Given the description of an element on the screen output the (x, y) to click on. 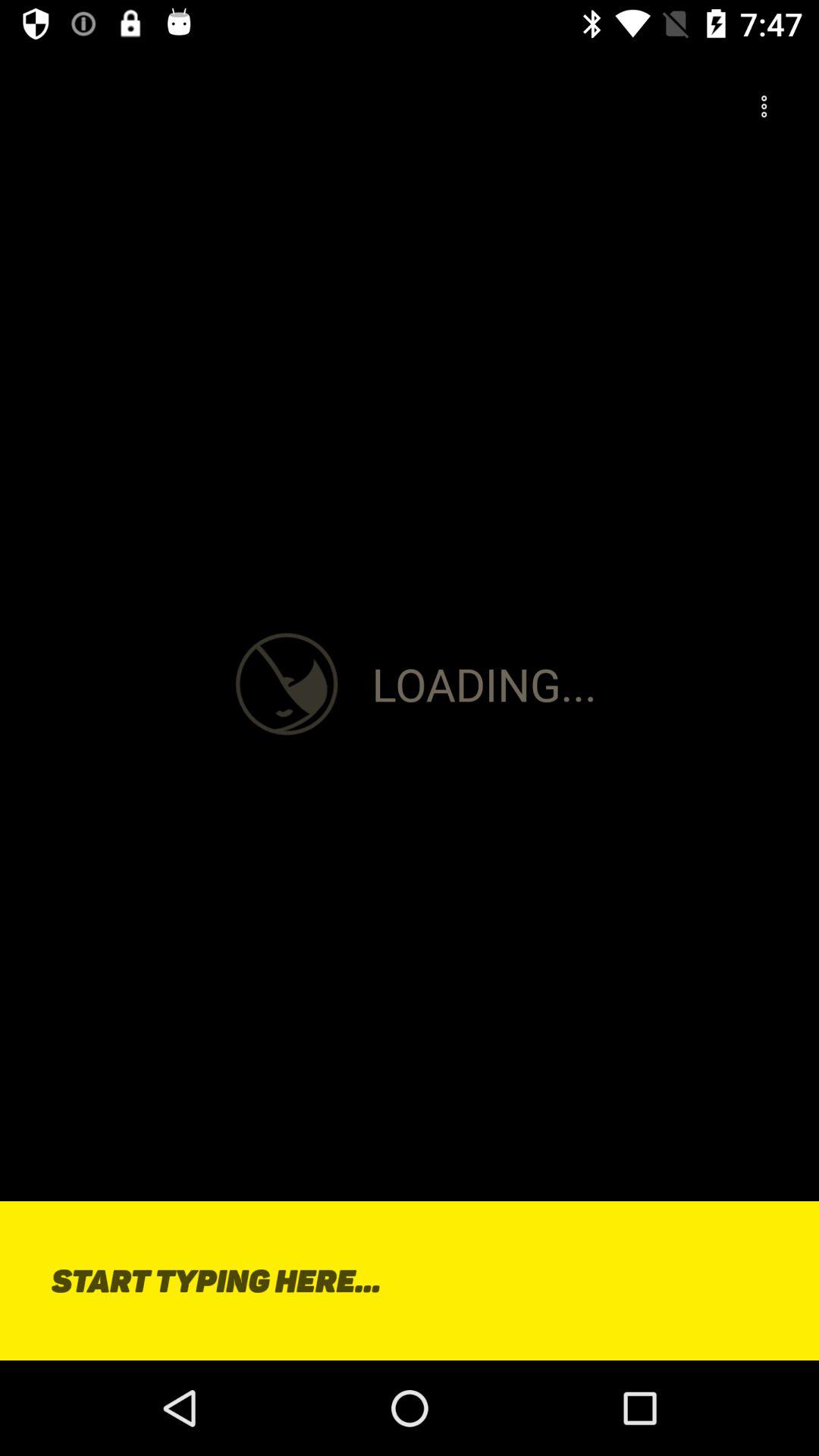
swipe to start typing here... item (409, 1280)
